Given the description of an element on the screen output the (x, y) to click on. 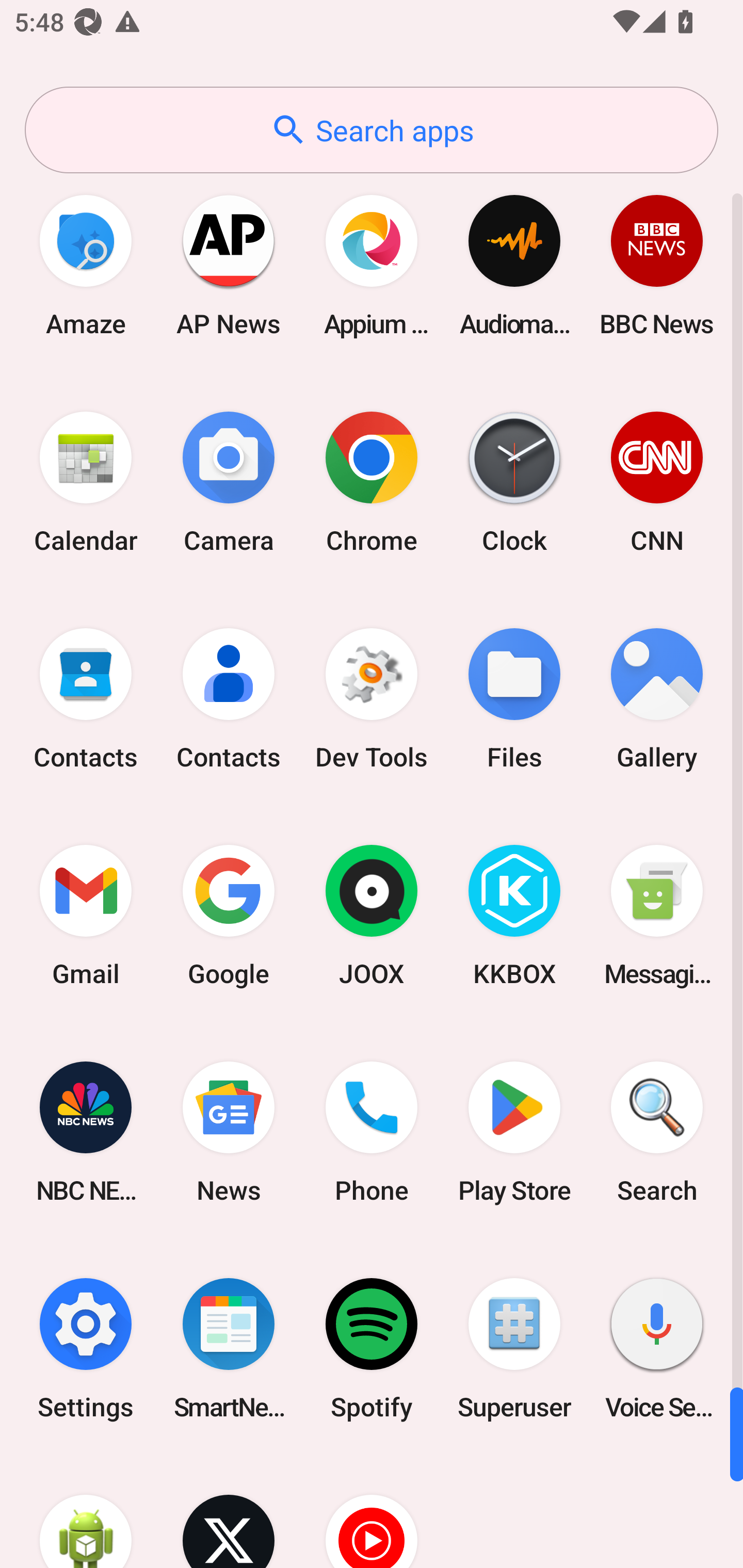
  Search apps (371, 130)
Amaze (85, 264)
AP News (228, 264)
Appium Settings (371, 264)
Audio­mack (514, 264)
BBC News (656, 264)
Calendar (85, 482)
Camera (228, 482)
Chrome (371, 482)
Clock (514, 482)
CNN (656, 482)
Contacts (85, 699)
Contacts (228, 699)
Dev Tools (371, 699)
Files (514, 699)
Gallery (656, 699)
Gmail (85, 915)
Google (228, 915)
JOOX (371, 915)
KKBOX (514, 915)
Messaging (656, 915)
NBC NEWS (85, 1131)
News (228, 1131)
Phone (371, 1131)
Play Store (514, 1131)
Search (656, 1131)
Settings (85, 1348)
SmartNews (228, 1348)
Spotify (371, 1348)
Superuser (514, 1348)
Voice Search (656, 1348)
WebView Browser Tester (85, 1512)
X (228, 1512)
YT Music (371, 1512)
